Given the description of an element on the screen output the (x, y) to click on. 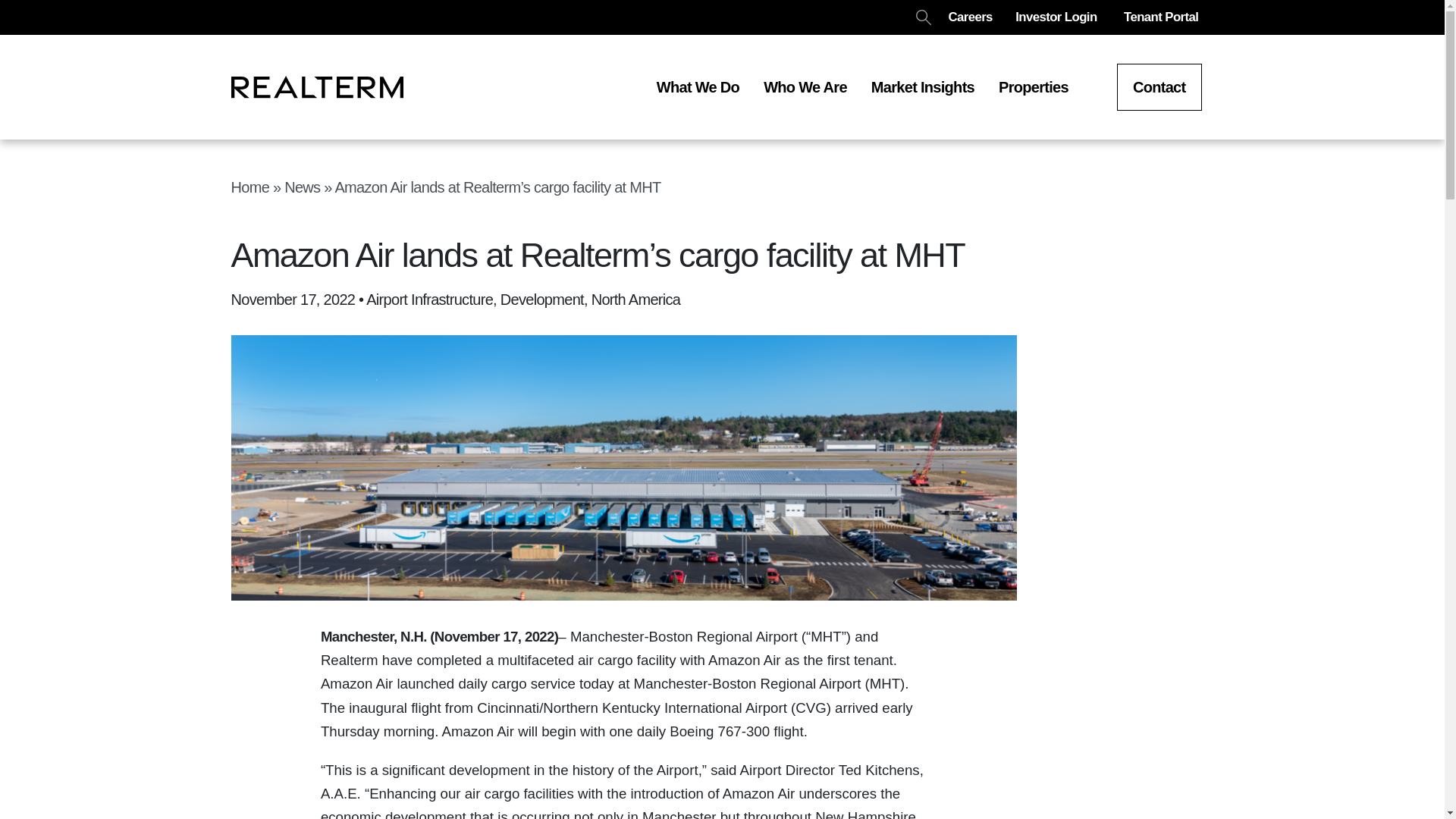
Investor Login (420, 674)
X (274, 673)
Privacy Policy (625, 674)
Linkedin (232, 673)
Home (249, 187)
Tenant Portal (1163, 16)
Contact (1159, 86)
Investor Login (1057, 16)
About Us (330, 674)
News (301, 187)
Careers (969, 16)
Market Insights (922, 87)
Tenant Portal (523, 674)
